Given the description of an element on the screen output the (x, y) to click on. 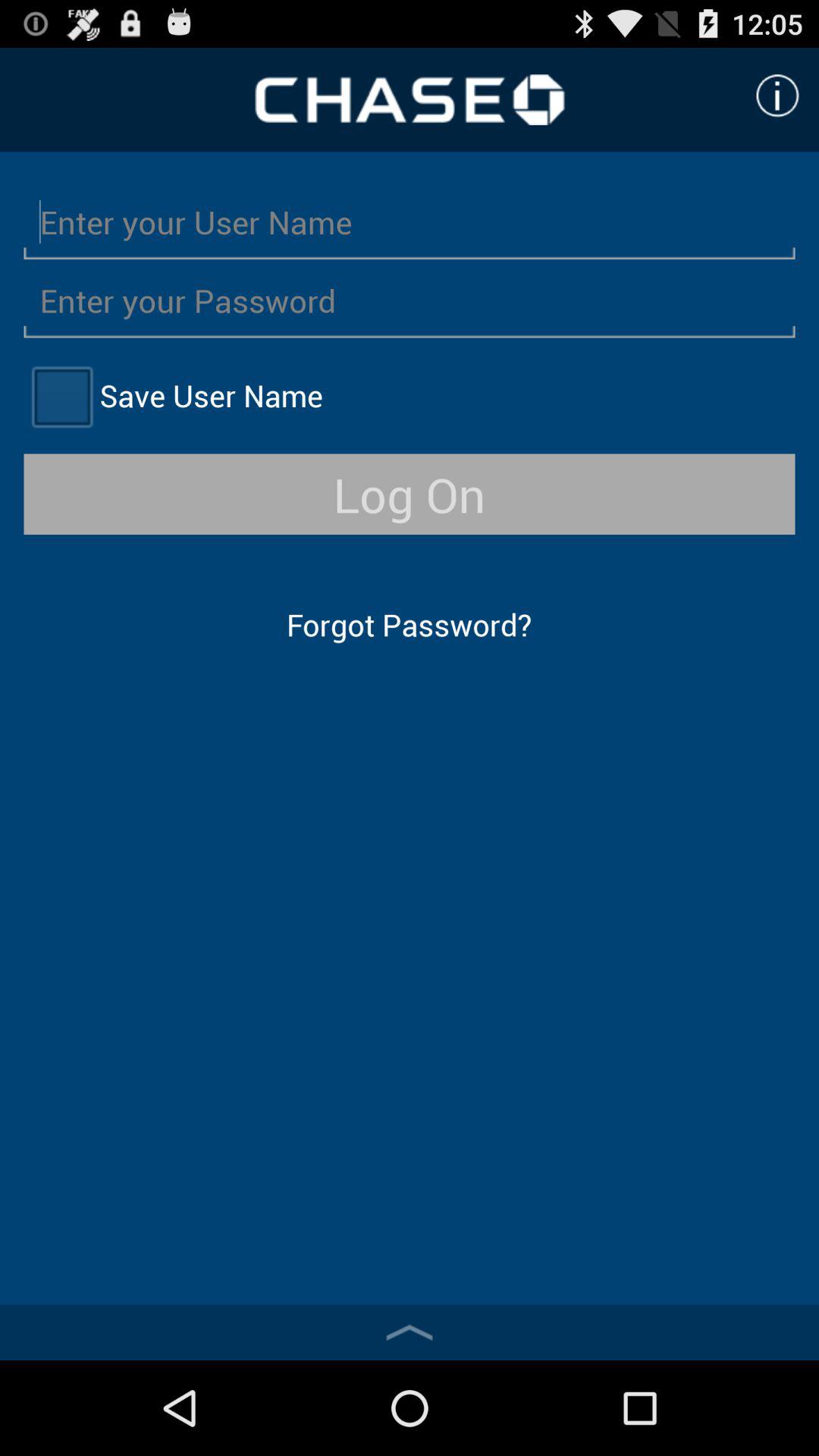
click on the enter password option (409, 299)
